Given the description of an element on the screen output the (x, y) to click on. 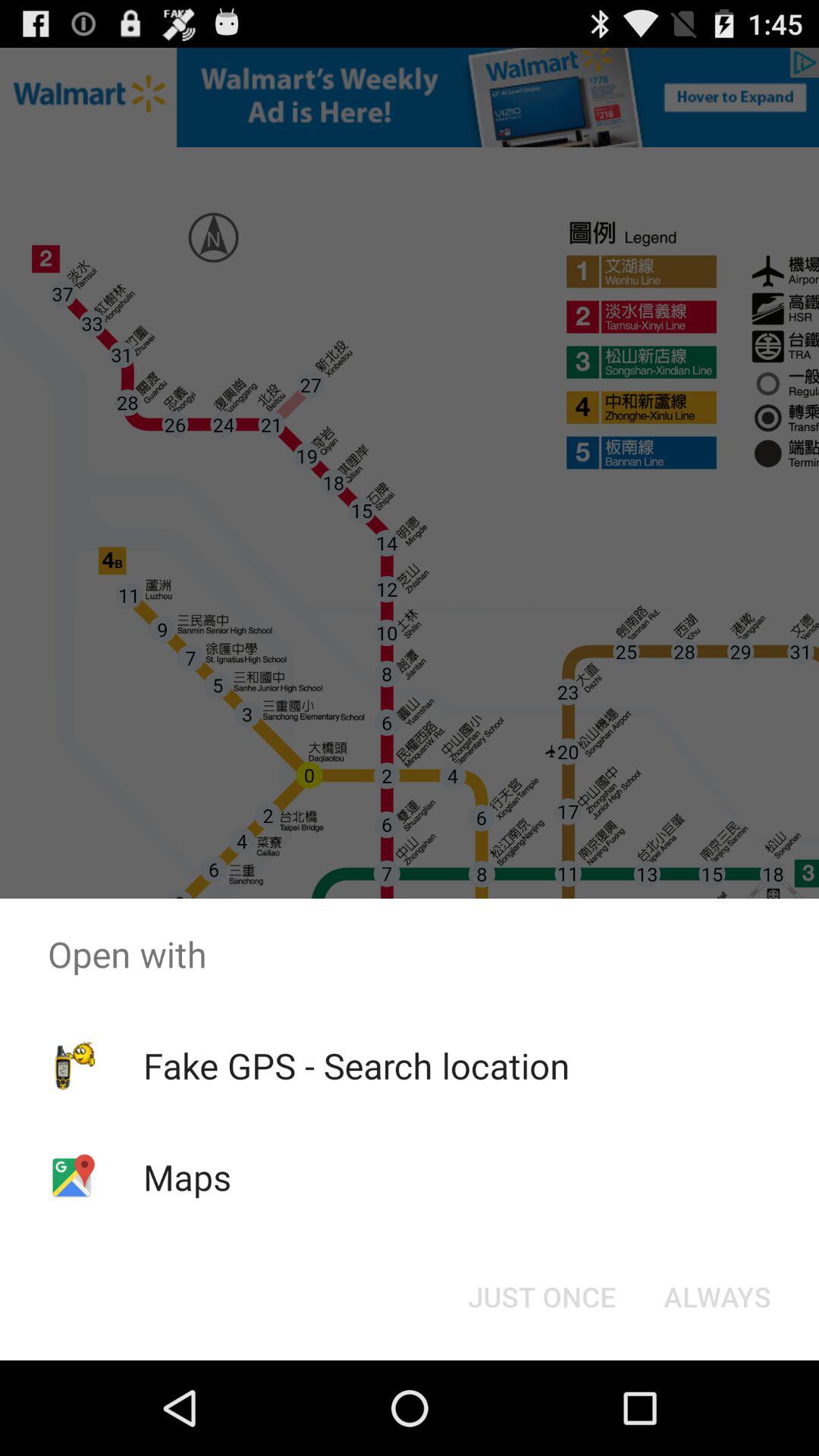
launch the icon below the open with (717, 1296)
